Given the description of an element on the screen output the (x, y) to click on. 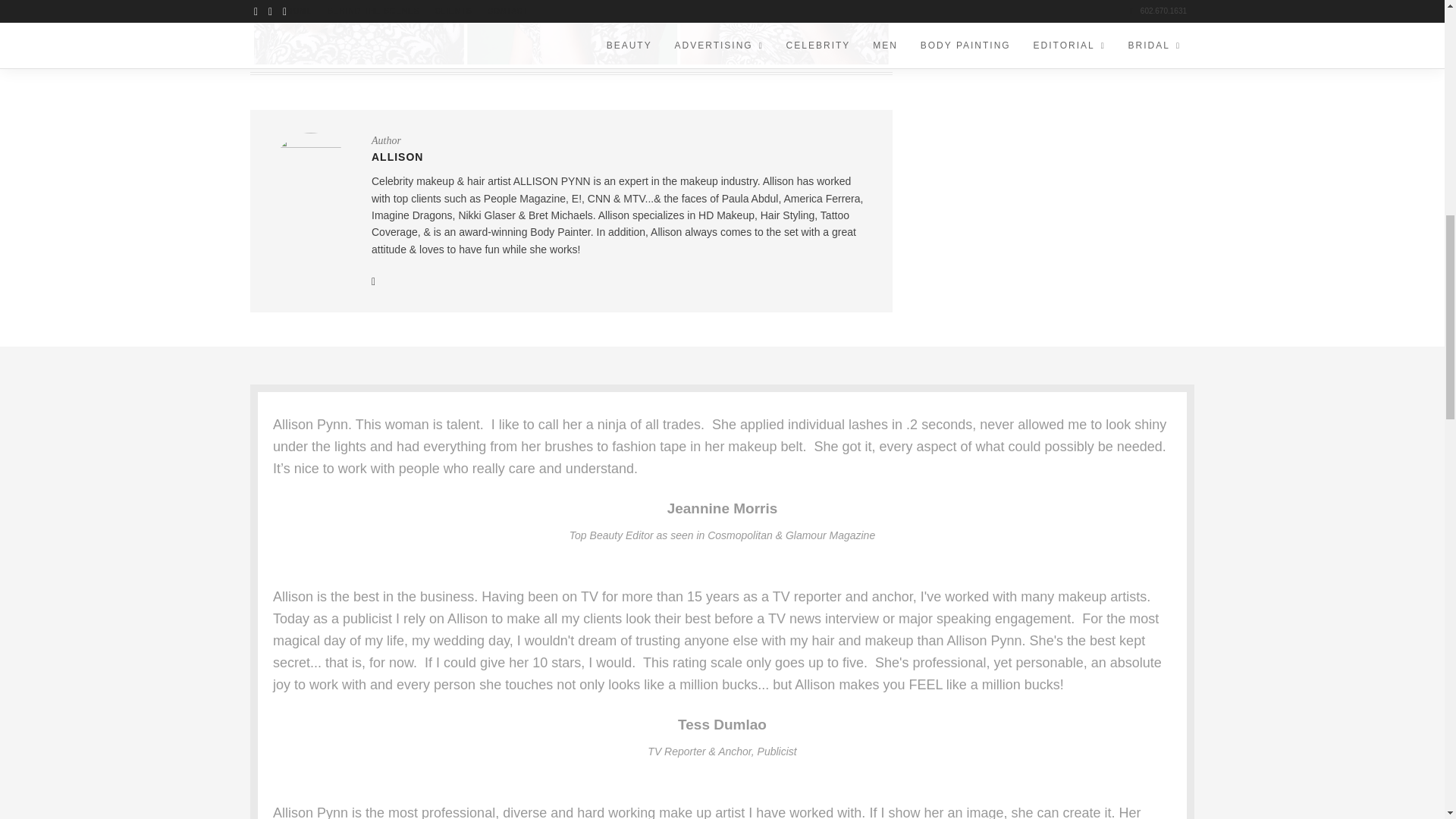
Instagram (373, 281)
